Given the description of an element on the screen output the (x, y) to click on. 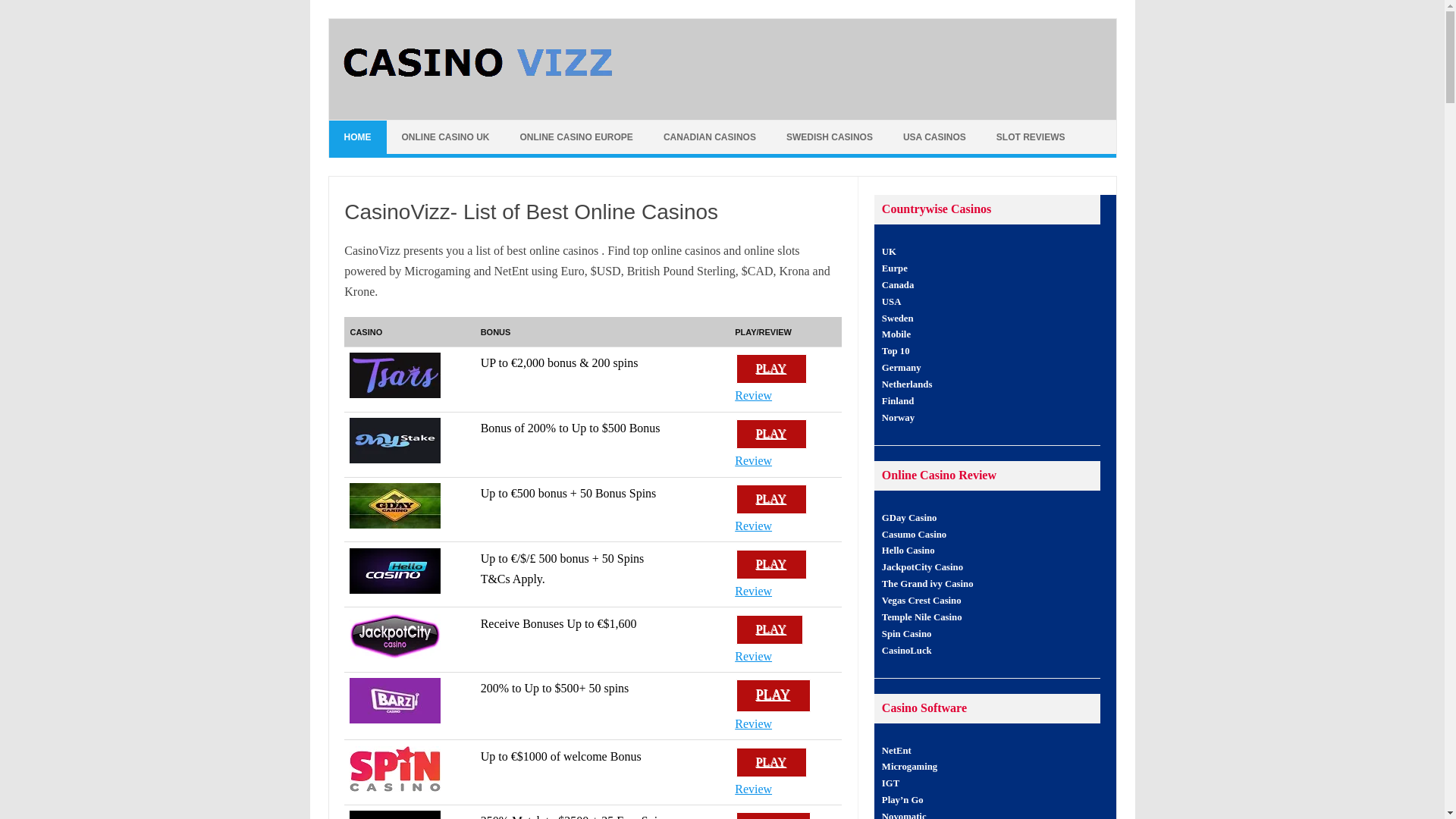
PLAY (771, 368)
PLAY (772, 815)
PLAY (769, 629)
Review (753, 723)
SWEDISH CASINOS (829, 136)
ONLINE CASINO EUROPE (576, 136)
Review (753, 723)
PLAY (772, 695)
Review (753, 656)
CANADIAN CASINOS (709, 136)
Review (753, 525)
PLAY (771, 499)
USA CASINOS (934, 136)
